Given the description of an element on the screen output the (x, y) to click on. 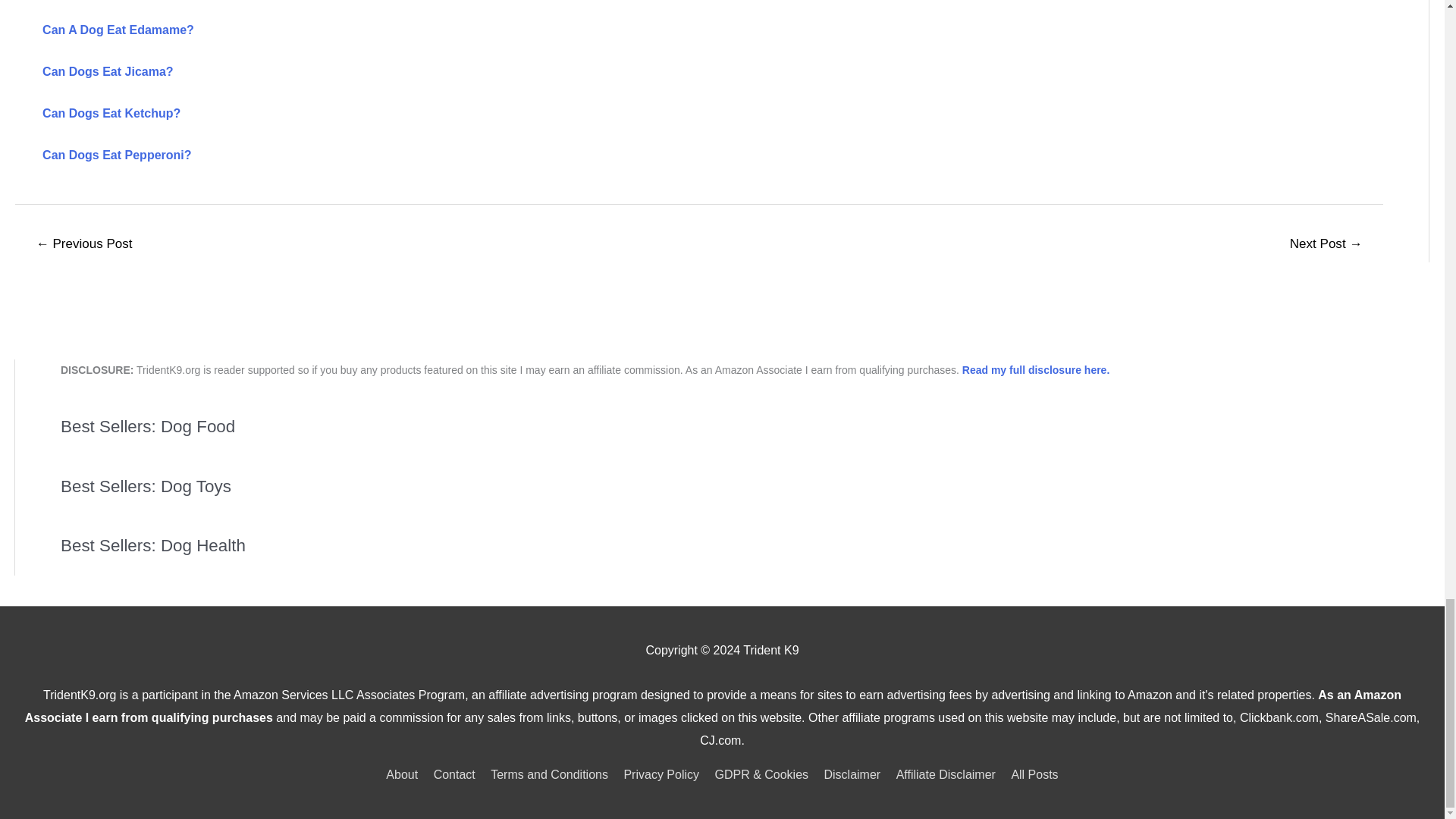
Can Dogs Eat Pepperoni? (116, 154)
Can A Dog Eat Edamame? (117, 29)
Read my full disclosure here. (1035, 369)
Can Dogs Eat Ketchup? (111, 113)
Can Dogs Eat Jicama? (107, 71)
